Given the description of an element on the screen output the (x, y) to click on. 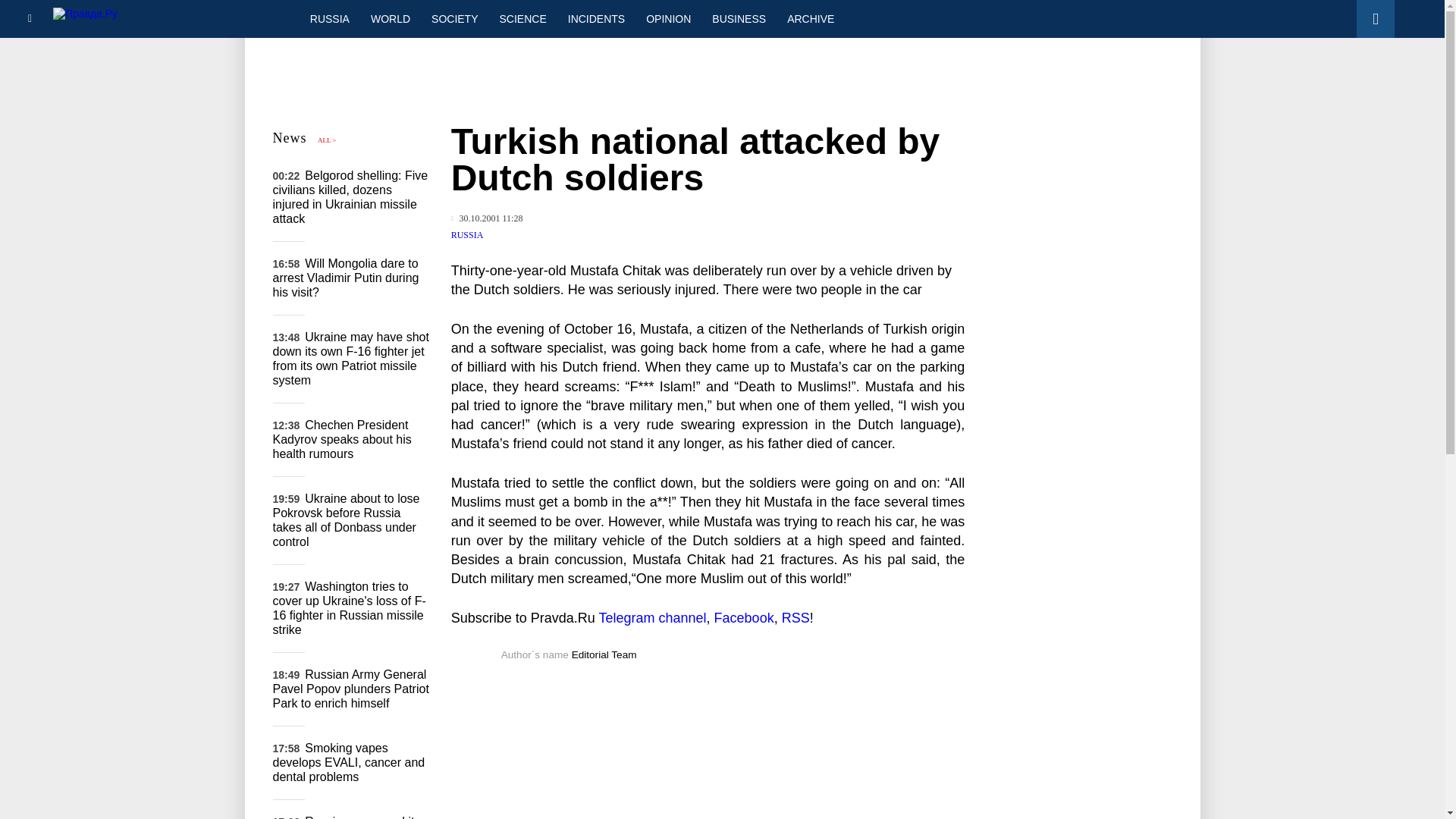
RUSSIA (329, 18)
Editorial Team (604, 654)
News (290, 137)
Facebook (744, 617)
Published (486, 218)
RUSSIA (467, 235)
OPINION (667, 18)
WORLD (389, 18)
